Given the description of an element on the screen output the (x, y) to click on. 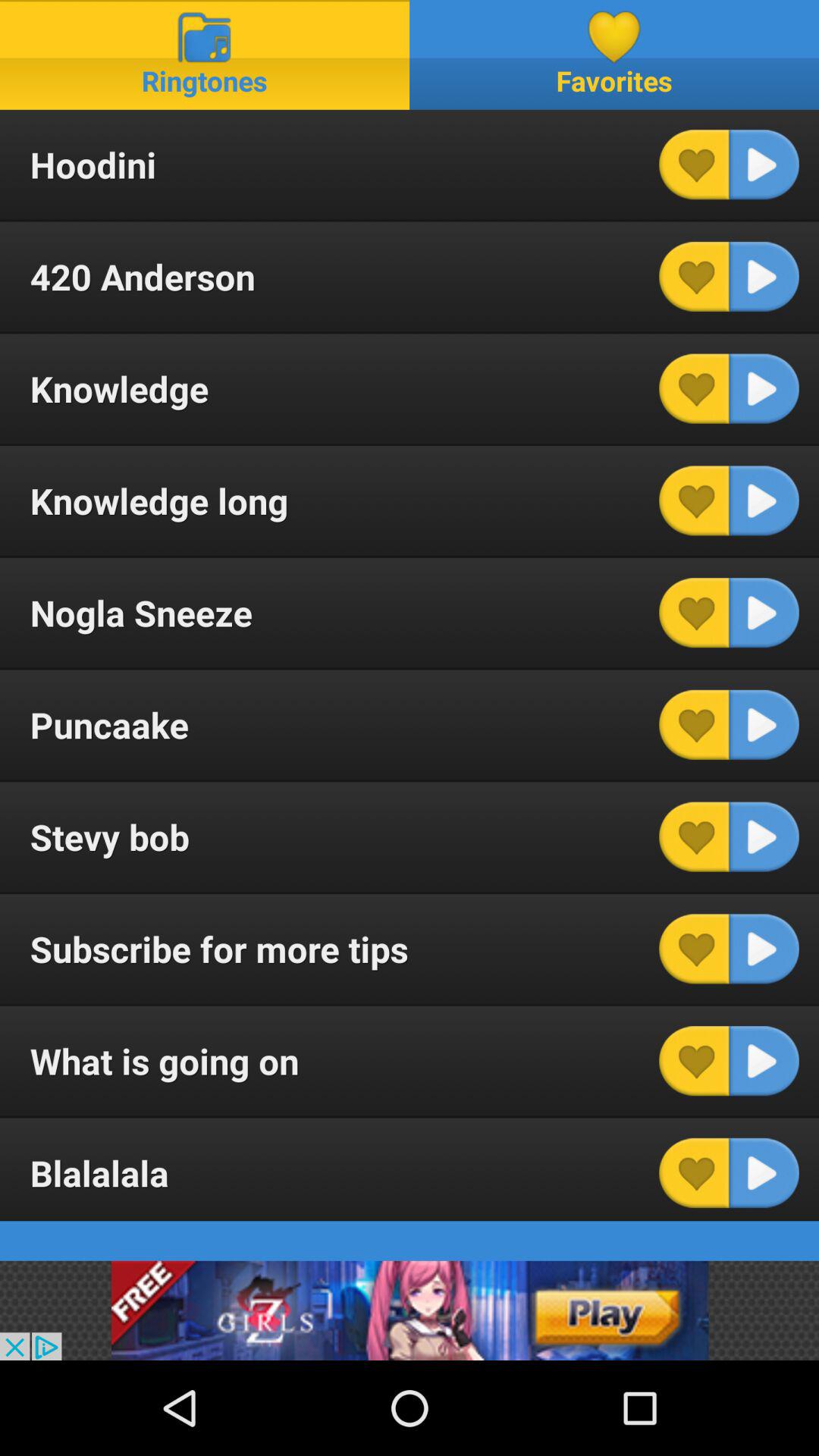
play button (764, 836)
